Given the description of an element on the screen output the (x, y) to click on. 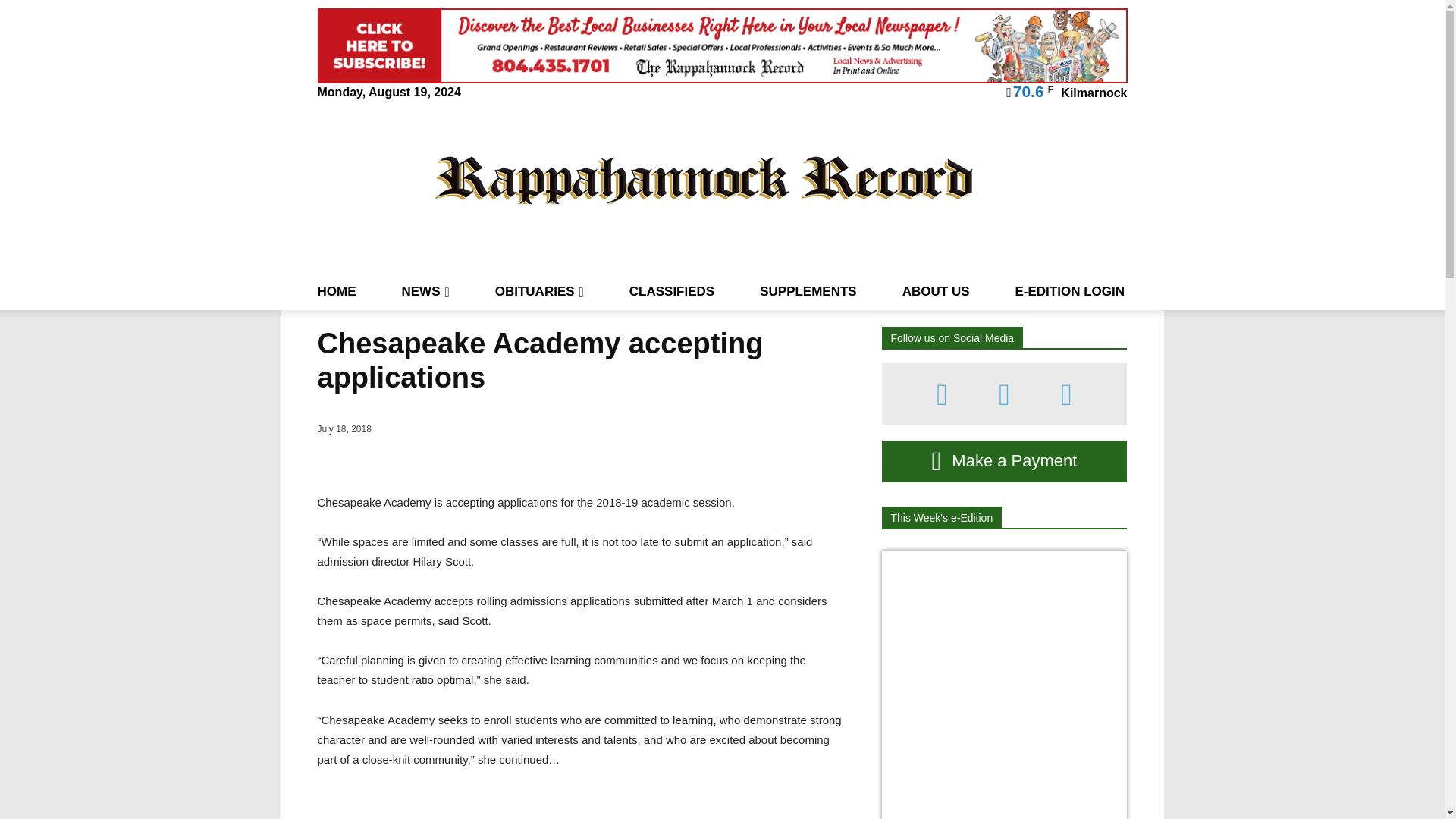
Twitter (1066, 393)
NEWS (425, 291)
OBITUARIES (539, 291)
This Week's e-Edition (940, 516)
Rappahannock Record (704, 179)
E-EDITION LOGIN (1069, 291)
CLASSIFIEDS (671, 291)
Facebook (941, 393)
HOME (336, 291)
SUPPLEMENTS (808, 291)
